Given the description of an element on the screen output the (x, y) to click on. 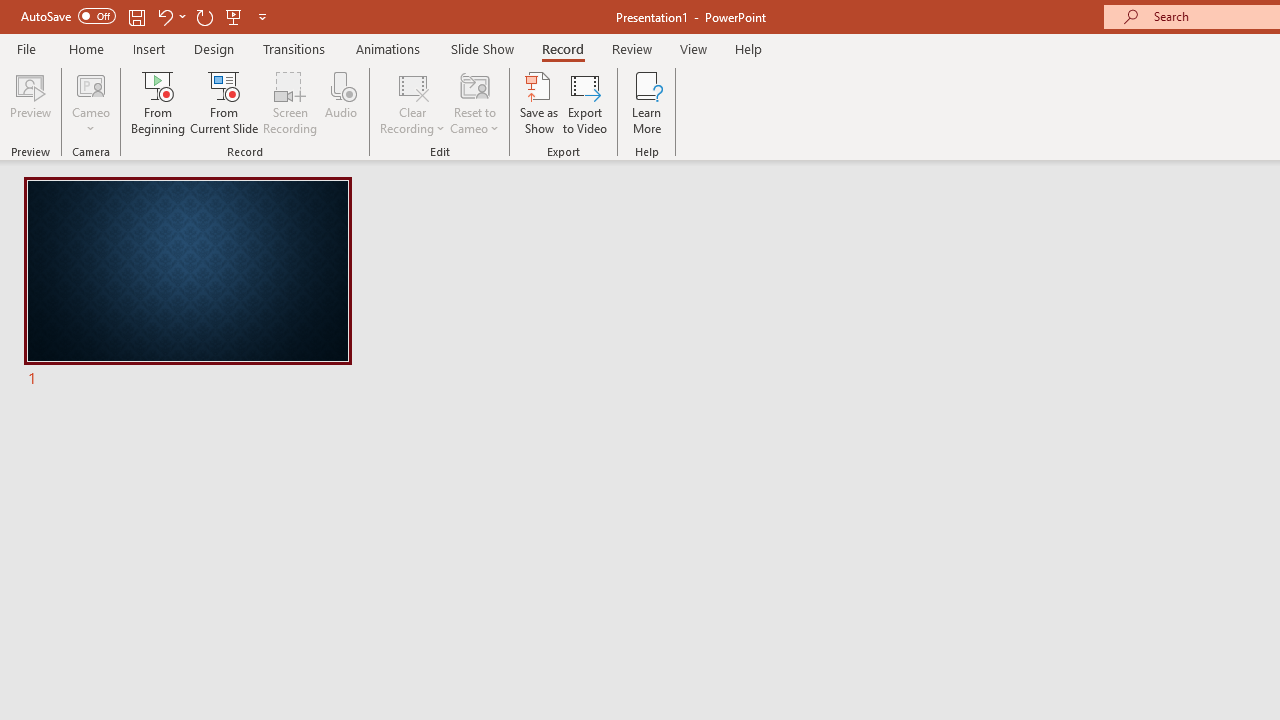
Save as Show (539, 102)
From Beginning... (158, 102)
From Current Slide... (224, 102)
